Given the description of an element on the screen output the (x, y) to click on. 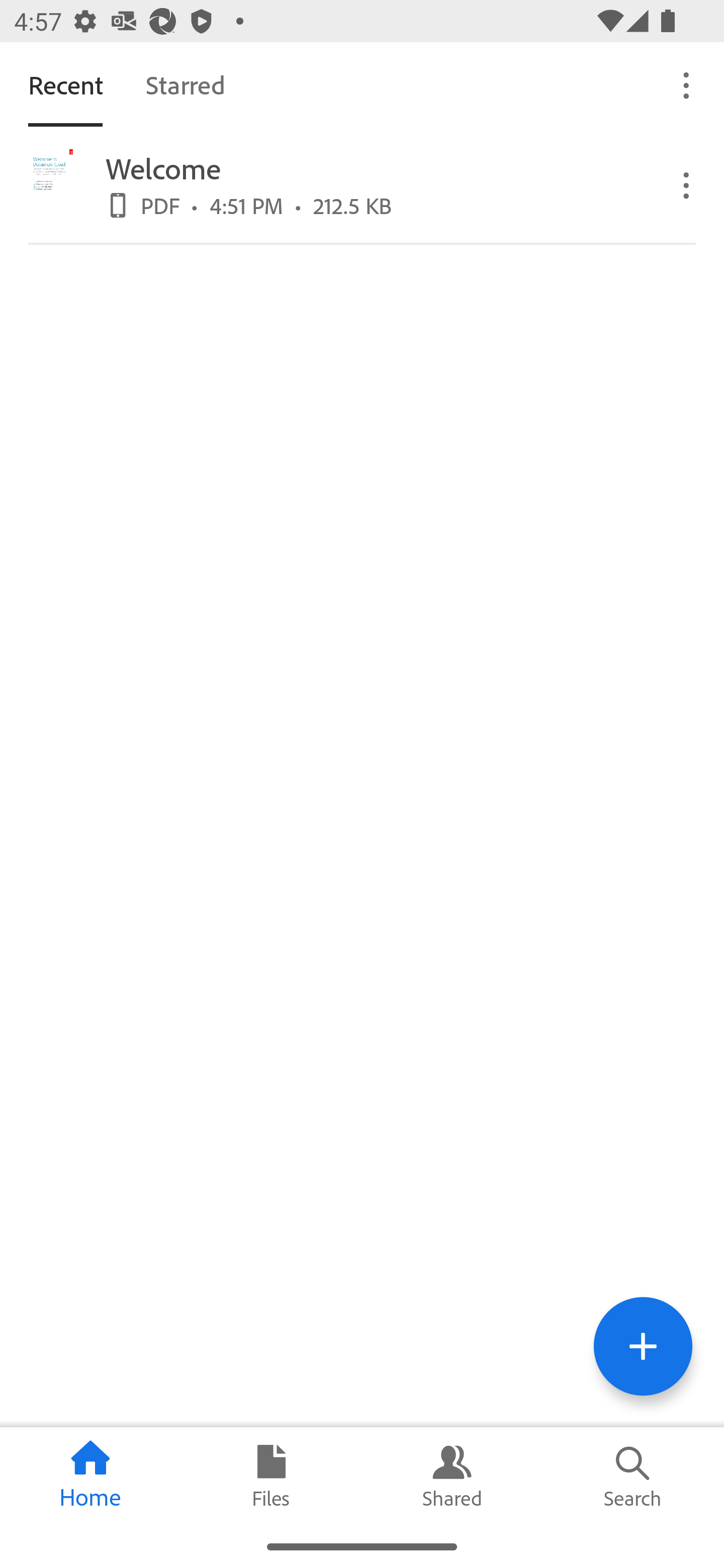
Recent (65, 84)
Starred (185, 84)
Overflow (687, 84)
Overflow (687, 184)
Tools (642, 1345)
Home (90, 1475)
Files (271, 1475)
Shared (452, 1475)
Search (633, 1475)
